Given the description of an element on the screen output the (x, y) to click on. 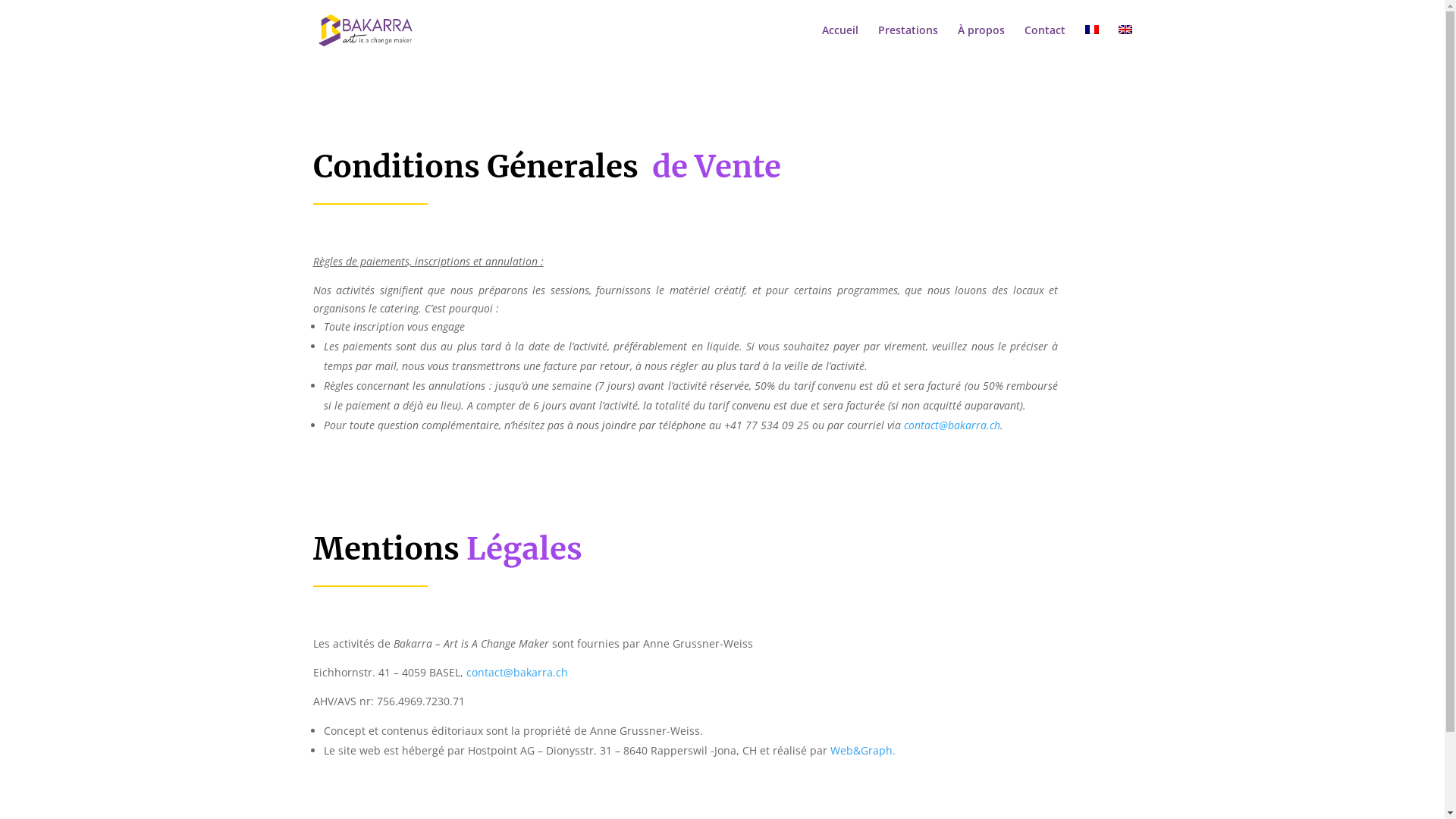
contact@bakarra.ch Element type: text (516, 672)
Contact Element type: text (1043, 42)
Web&Graph. Element type: text (861, 750)
Prestations Element type: text (908, 42)
Accueil Element type: text (840, 42)
contact@bakarra.ch Element type: text (951, 424)
